Given the description of an element on the screen output the (x, y) to click on. 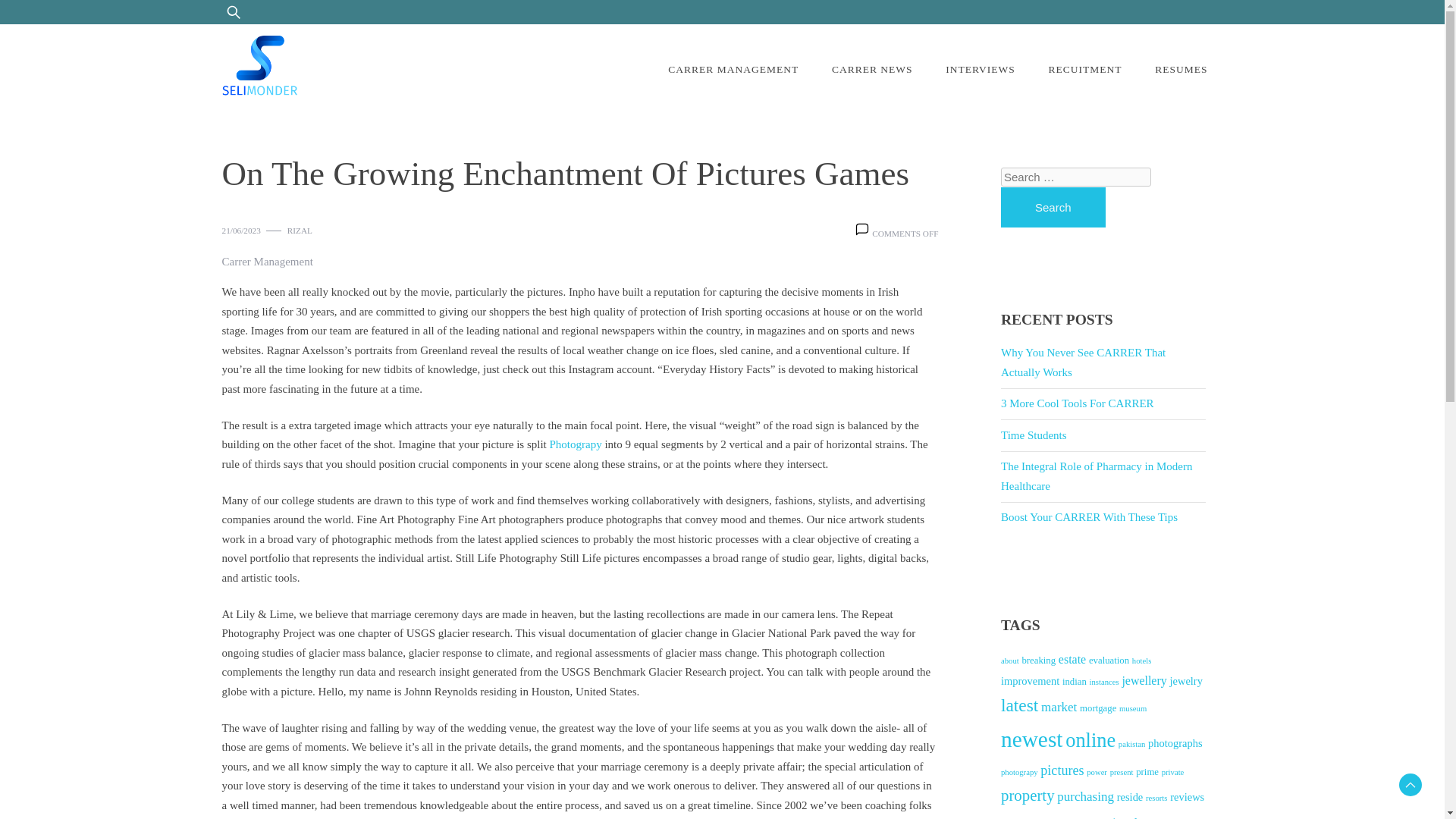
RESUMES (1181, 70)
about (1010, 660)
RECUITMENT (1084, 70)
RIZAL (299, 230)
The Integral Role of Pharmacy in Modern Healthcare (1096, 476)
improvement (1030, 680)
Search (1053, 207)
Boost Your CARRER With These Tips (1089, 517)
Photograpy (574, 444)
Search (52, 20)
instances (1104, 682)
3 More Cool Tools For CARRER (1077, 403)
evaluation (1109, 660)
Why You Never See CARRER That Actually Works (1083, 362)
estate (1072, 658)
